Given the description of an element on the screen output the (x, y) to click on. 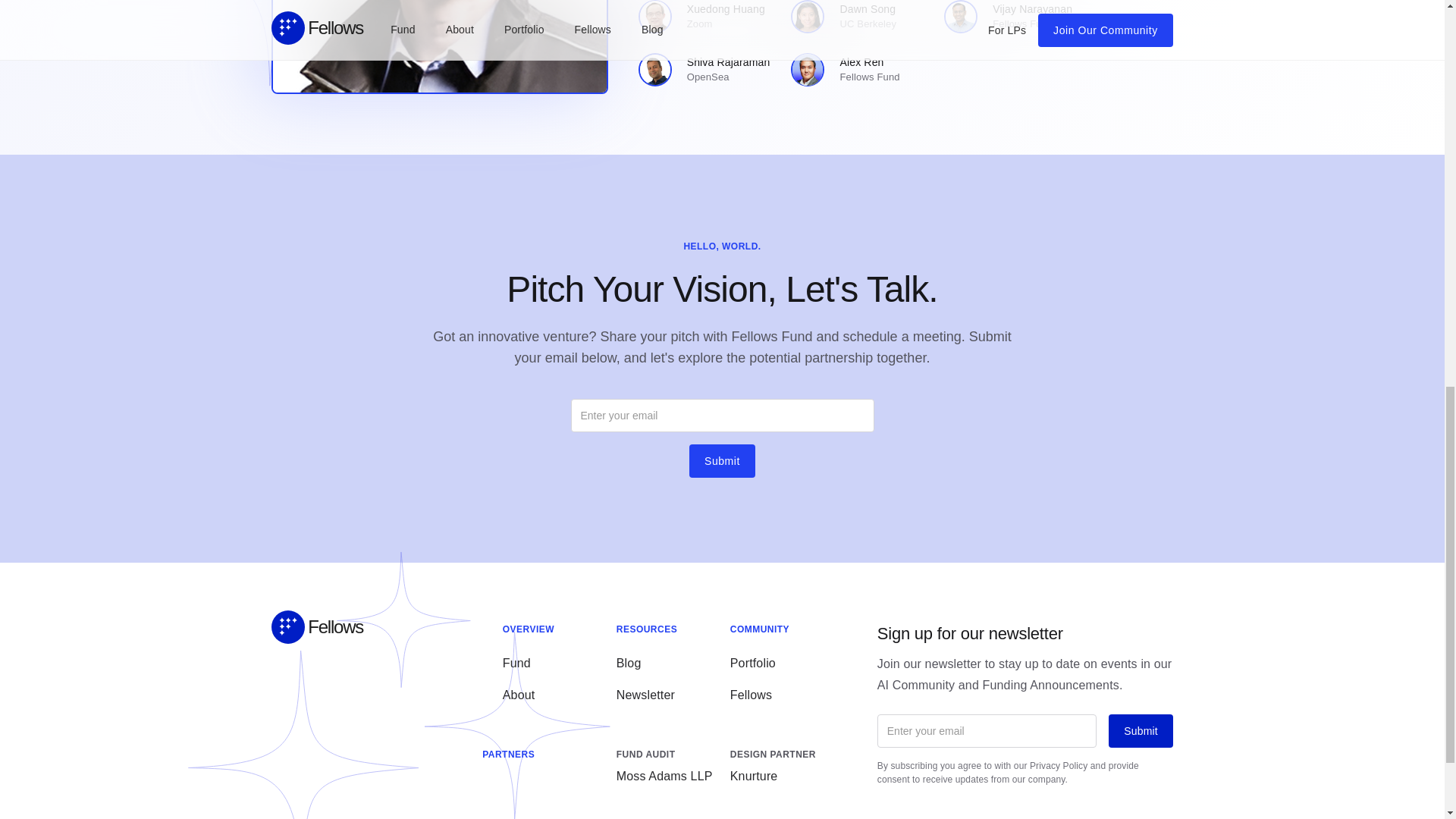
Submit (708, 69)
Submit (1140, 730)
